Given the description of an element on the screen output the (x, y) to click on. 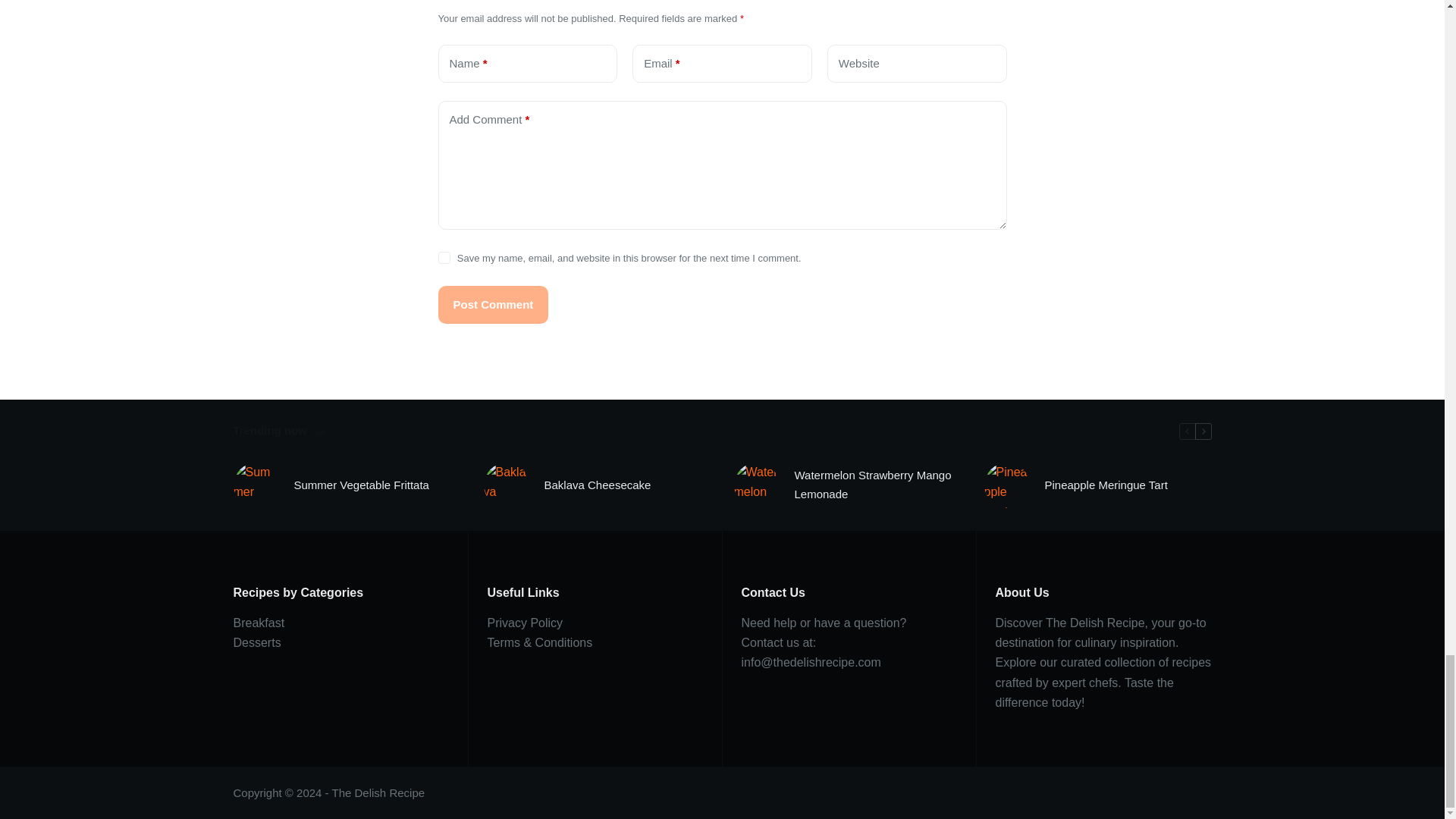
Watermelon Strawberry Mango Lemonade (877, 485)
Pineapple Meringue Tart (1106, 485)
Breakfast (258, 622)
Post Comment (493, 304)
Summer Vegetable Frittata (361, 485)
Privacy Policy (524, 622)
yes (443, 257)
Baklava Cheesecake (597, 485)
Desserts (256, 642)
